Given the description of an element on the screen output the (x, y) to click on. 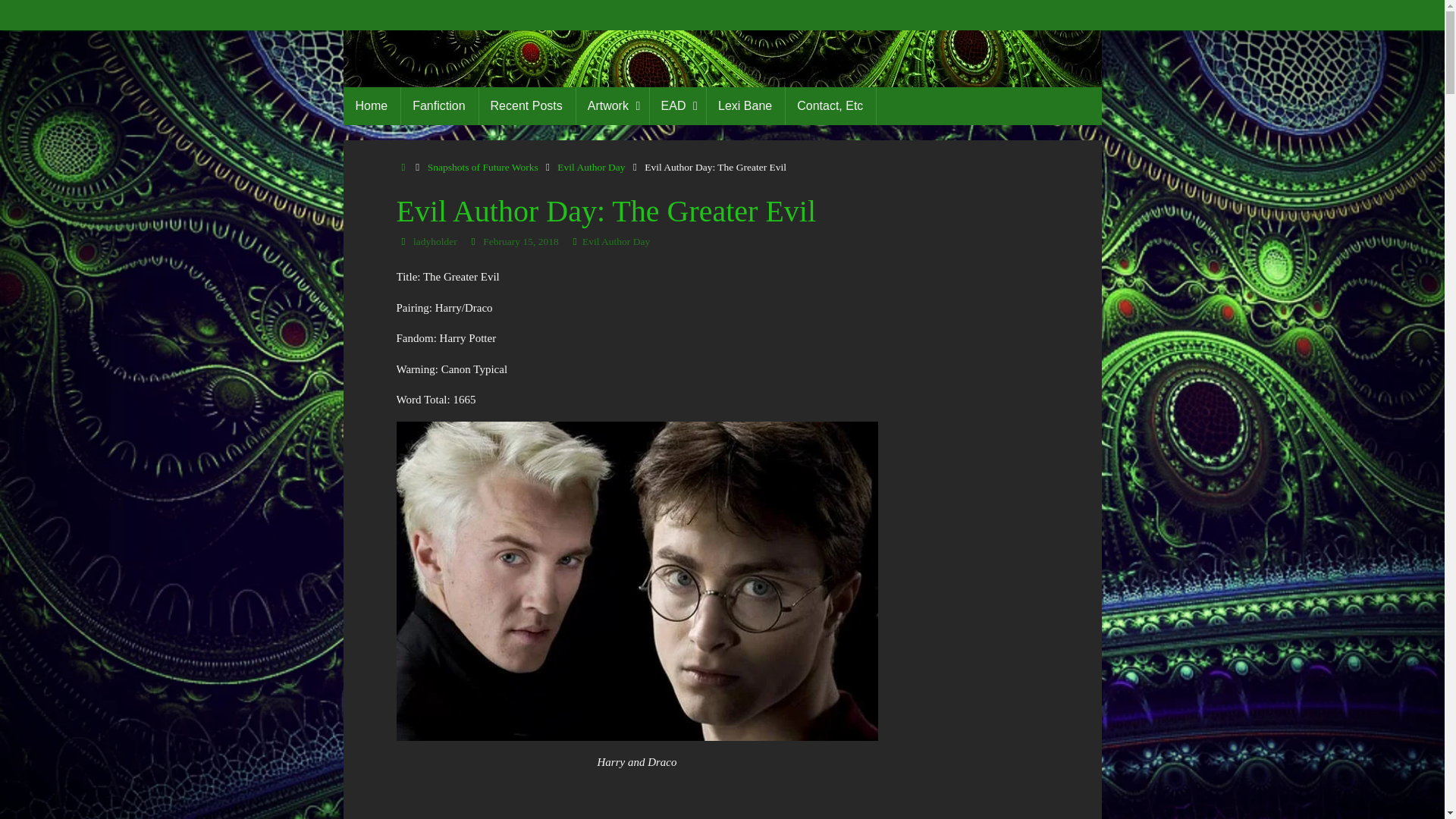
Evil Author Day (590, 166)
Categories (574, 241)
Lexi Bane (745, 105)
Fanfiction (438, 105)
Evil Author Day (615, 241)
Home (403, 166)
Home (371, 105)
Recent Posts (527, 105)
Artwork (612, 105)
February 15, 2018 (520, 241)
Author  (403, 241)
ladyholder (435, 241)
Date (472, 241)
EAD (677, 105)
Contact, Etc (830, 105)
